Given the description of an element on the screen output the (x, y) to click on. 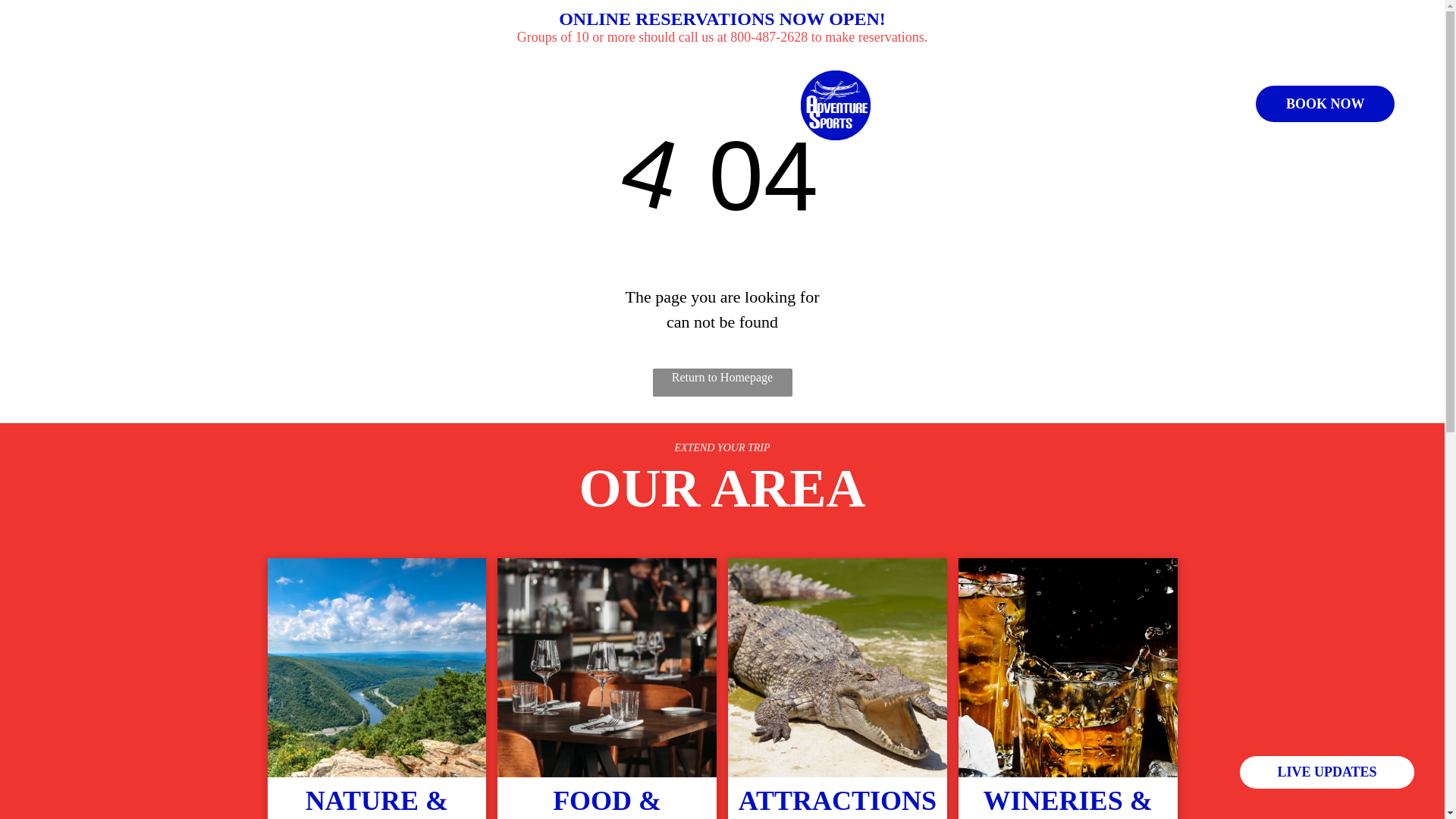
ABOUT US (726, 86)
Return to Homepage (722, 382)
LIVE UPDATES (1326, 771)
SPECIALS (934, 86)
HOME (617, 86)
ONLINE RESERVATIONS NOW OPEN! (722, 18)
BLOG (914, 124)
BOOK NOW (1324, 103)
CONTACT US (1065, 86)
OUR TRIPS (722, 124)
